Given the description of an element on the screen output the (x, y) to click on. 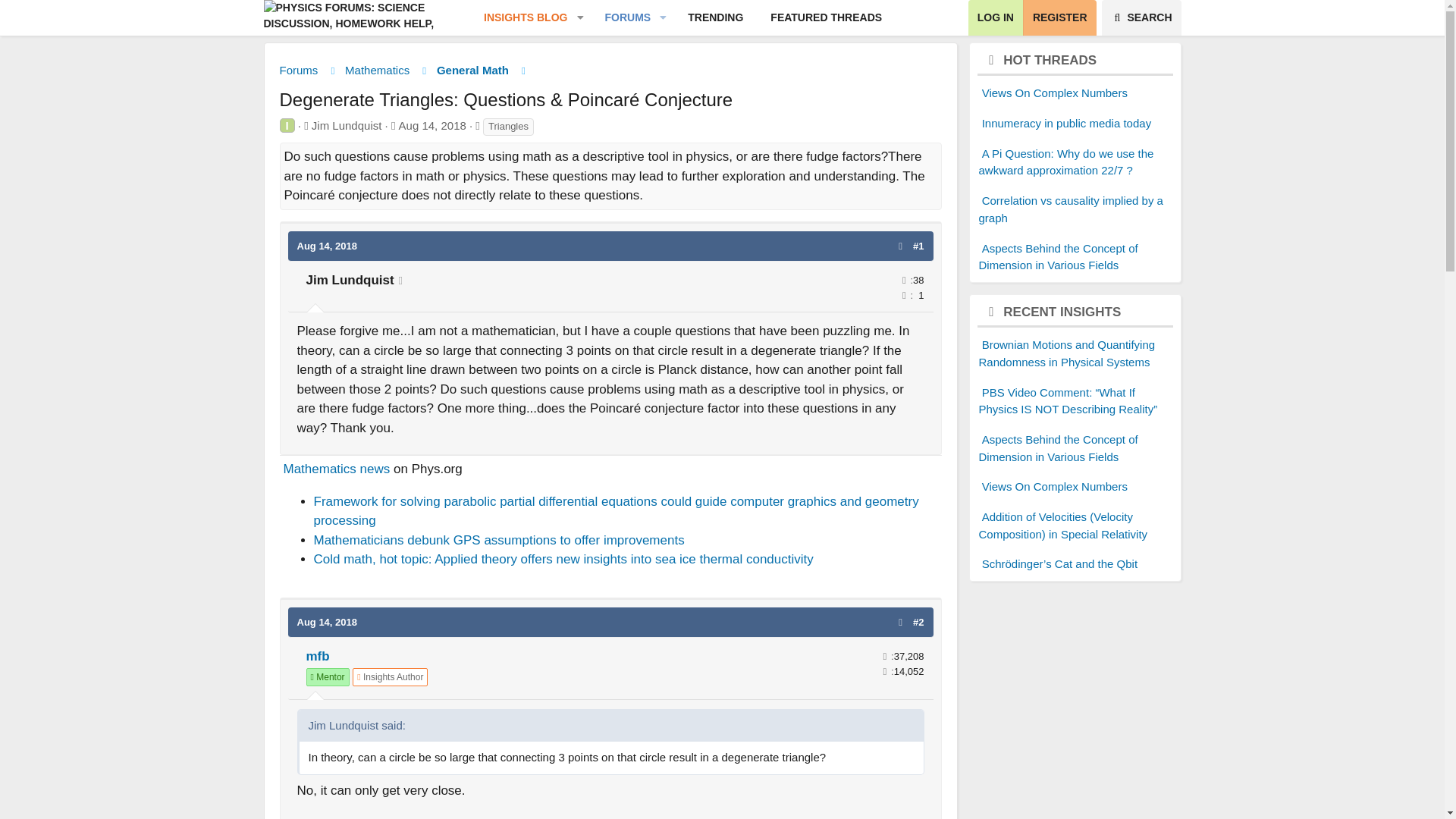
Reaction score (904, 294)
FORUMS (621, 18)
Aug 14, 2018 at 1:56 PM (431, 124)
Messages (885, 655)
Messages (904, 280)
Search (682, 18)
Aug 14, 2018 at 1:56 PM (1140, 18)
TRENDING (682, 18)
